Given the description of an element on the screen output the (x, y) to click on. 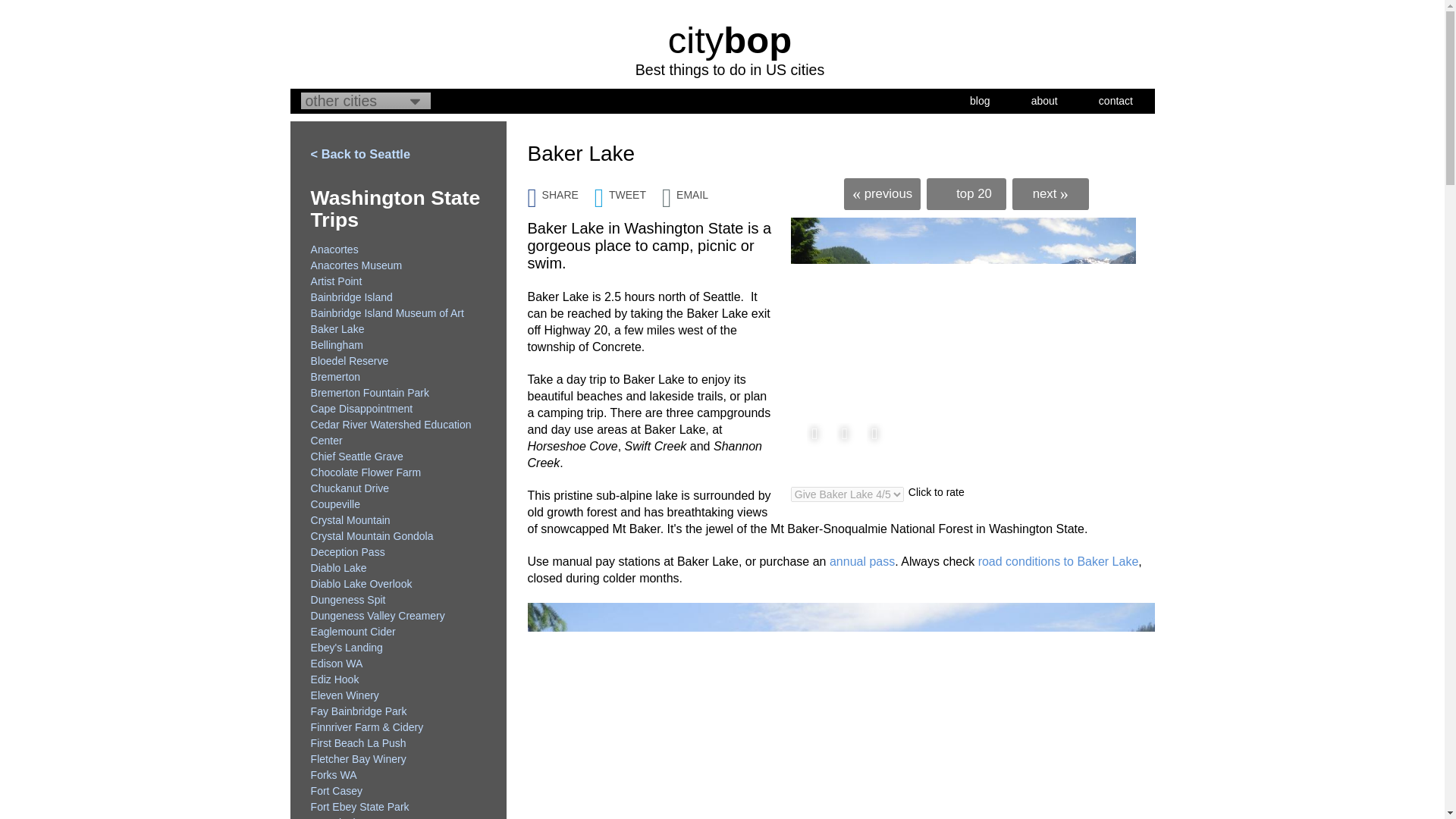
about (1044, 101)
Rate (17, 8)
citybop (730, 39)
SHARE (560, 189)
Baker Lake  (962, 346)
top 20 (966, 193)
EMAIL (692, 189)
blog (979, 101)
Home page (730, 39)
